Given the description of an element on the screen output the (x, y) to click on. 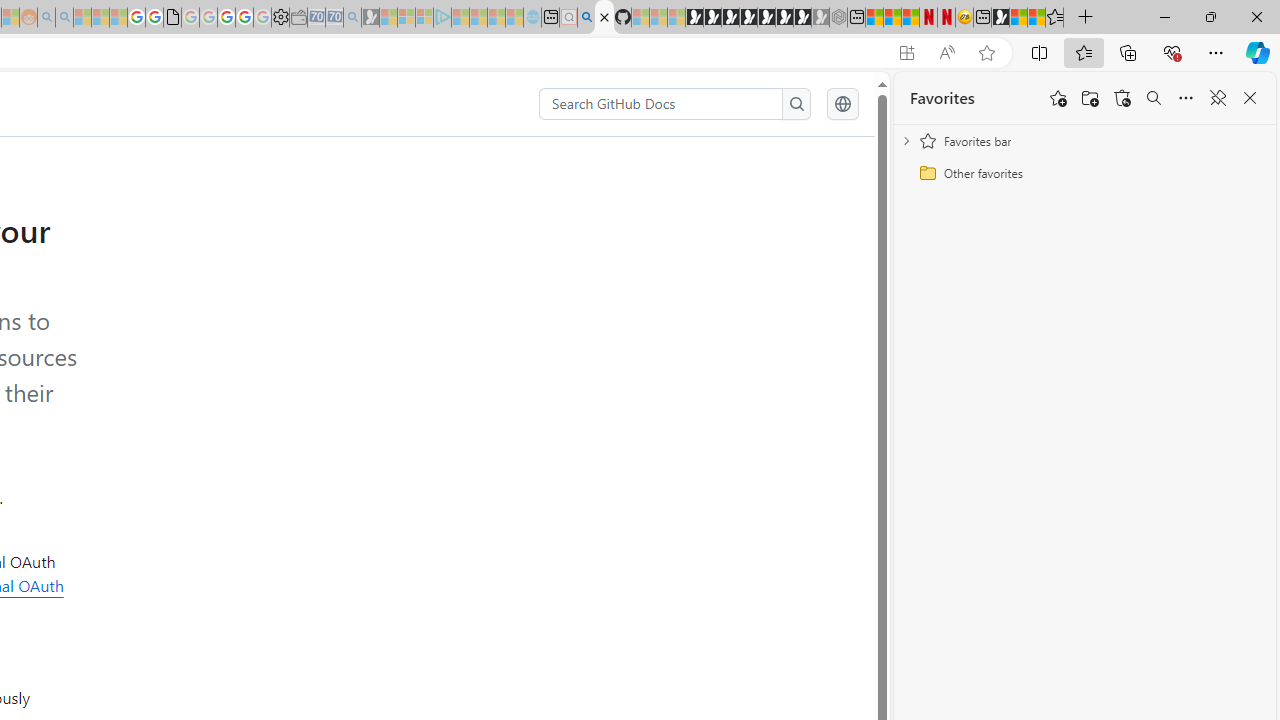
Cheap Car Rentals - Save70.com - Sleeping (334, 17)
Close favorites (1250, 98)
Select language: current language is English (842, 103)
Utah sues federal government - Search - Sleeping (64, 17)
Restore deleted favorites (1122, 98)
Home | Sky Blue Bikes - Sky Blue Bikes - Sleeping (532, 17)
Split screen (1039, 52)
Bing Real Estate - Home sales and rental listings - Sleeping (352, 17)
Search (796, 103)
Read aloud this page (Ctrl+Shift+U) (946, 53)
More options (1186, 98)
Search favorites (1153, 98)
Restore (1210, 16)
